Given the description of an element on the screen output the (x, y) to click on. 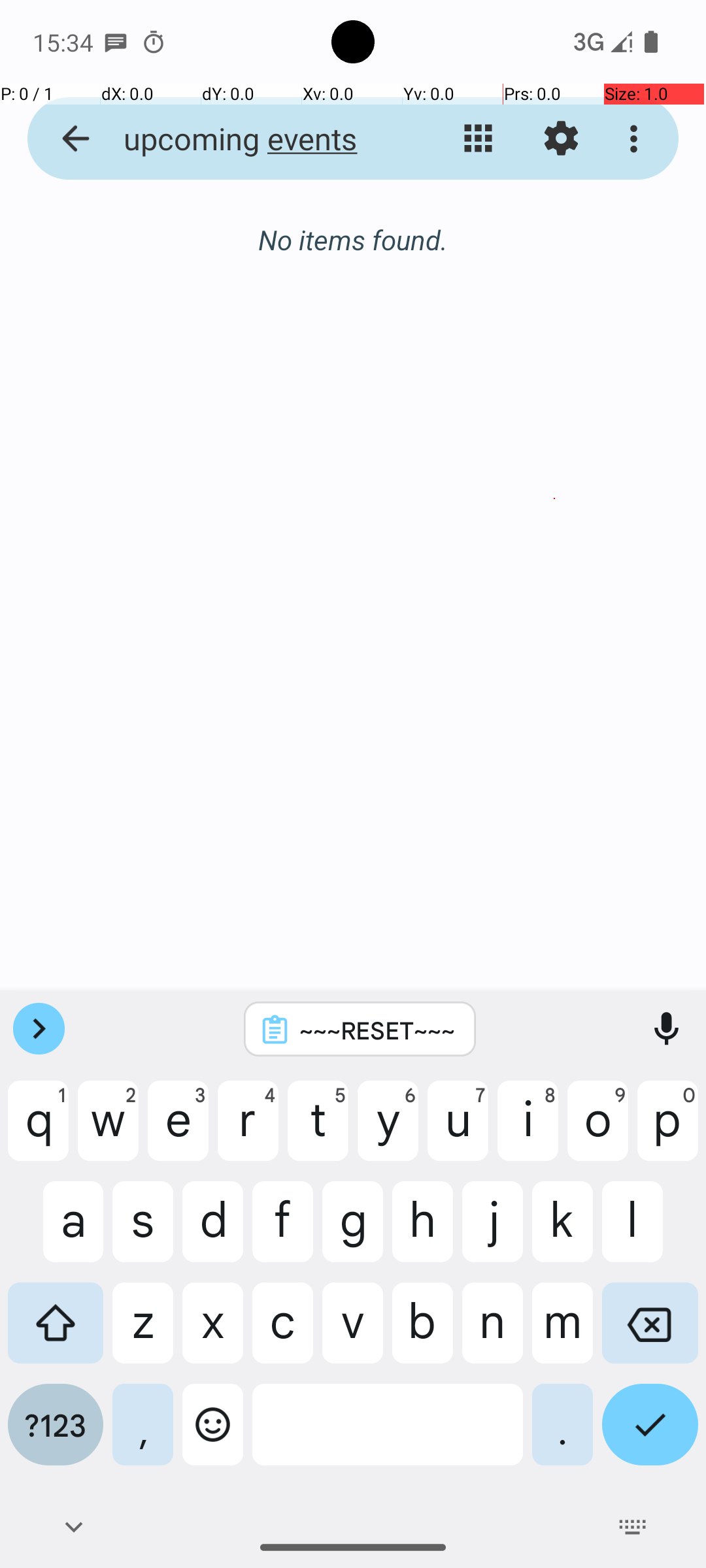
upcoming events Element type: android.widget.EditText (252, 138)
